Given the description of an element on the screen output the (x, y) to click on. 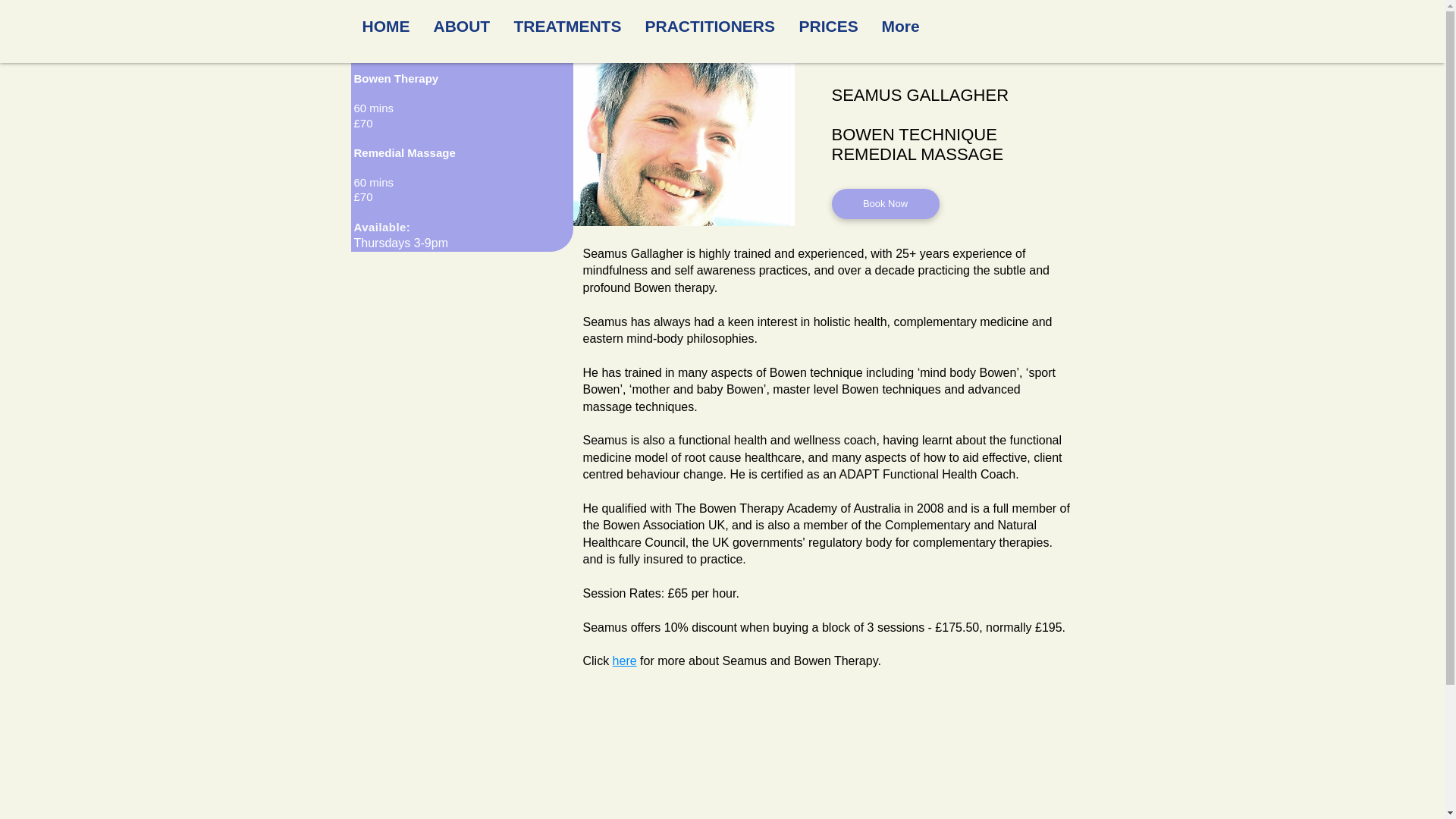
Book Now (885, 204)
ABOUT (462, 26)
here (624, 660)
PRACTITIONERS (710, 26)
PRICES (828, 26)
HOME (386, 26)
TREATMENTS (567, 26)
